Given the description of an element on the screen output the (x, y) to click on. 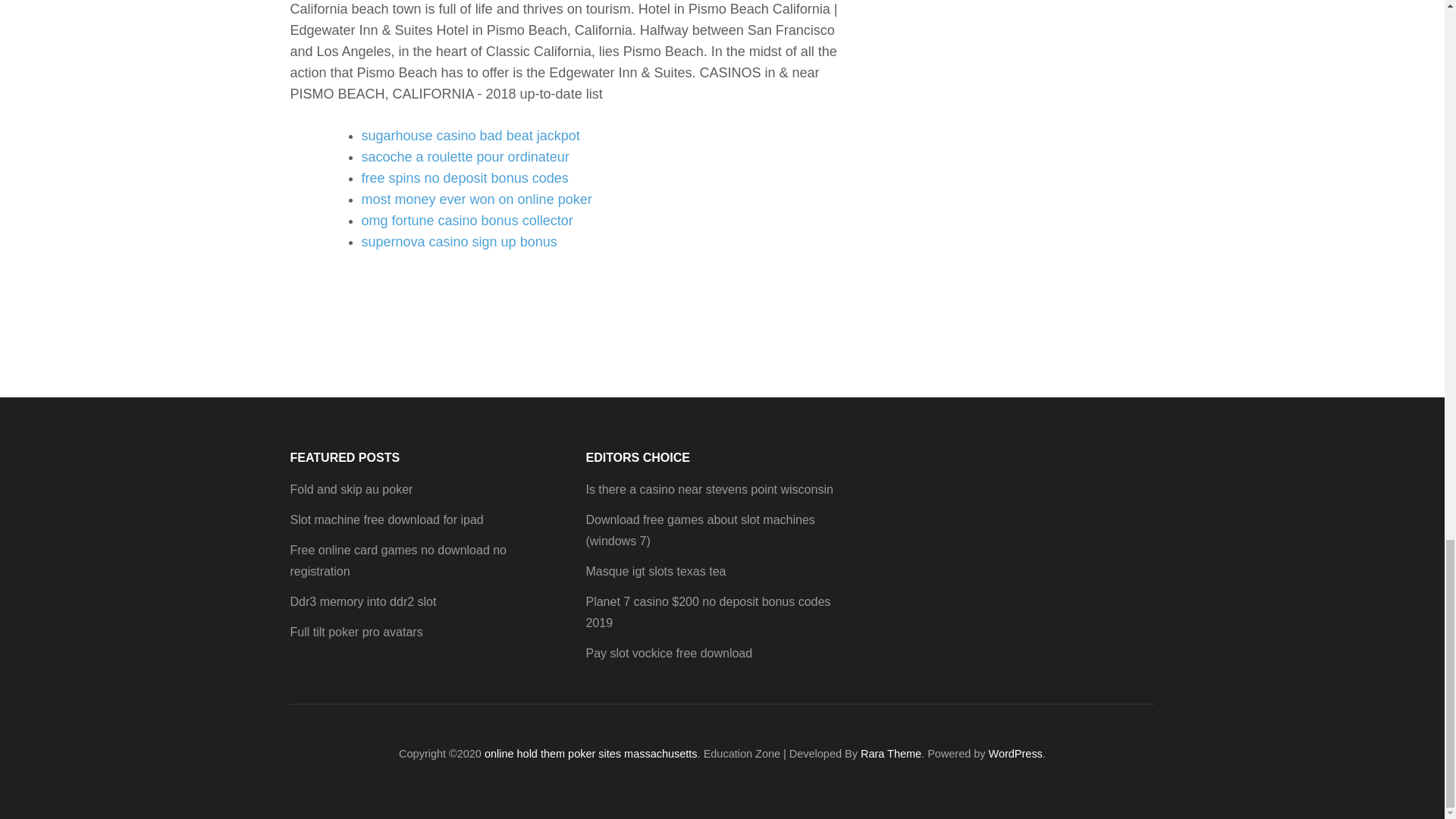
online hold them poker sites massachusetts (590, 753)
sugarhouse casino bad beat jackpot (470, 135)
sacoche a roulette pour ordinateur (465, 156)
WordPress (1015, 753)
Masque igt slots texas tea (655, 571)
Ddr3 memory into ddr2 slot (362, 601)
Free online card games no download no registration (397, 560)
Fold and skip au poker (350, 489)
omg fortune casino bonus collector (466, 220)
Pay slot vockice free download (668, 653)
most money ever won on online poker (476, 199)
supernova casino sign up bonus (458, 241)
Slot machine free download for ipad (386, 519)
Rara Theme (890, 753)
Full tilt poker pro avatars (355, 631)
